Given the description of an element on the screen output the (x, y) to click on. 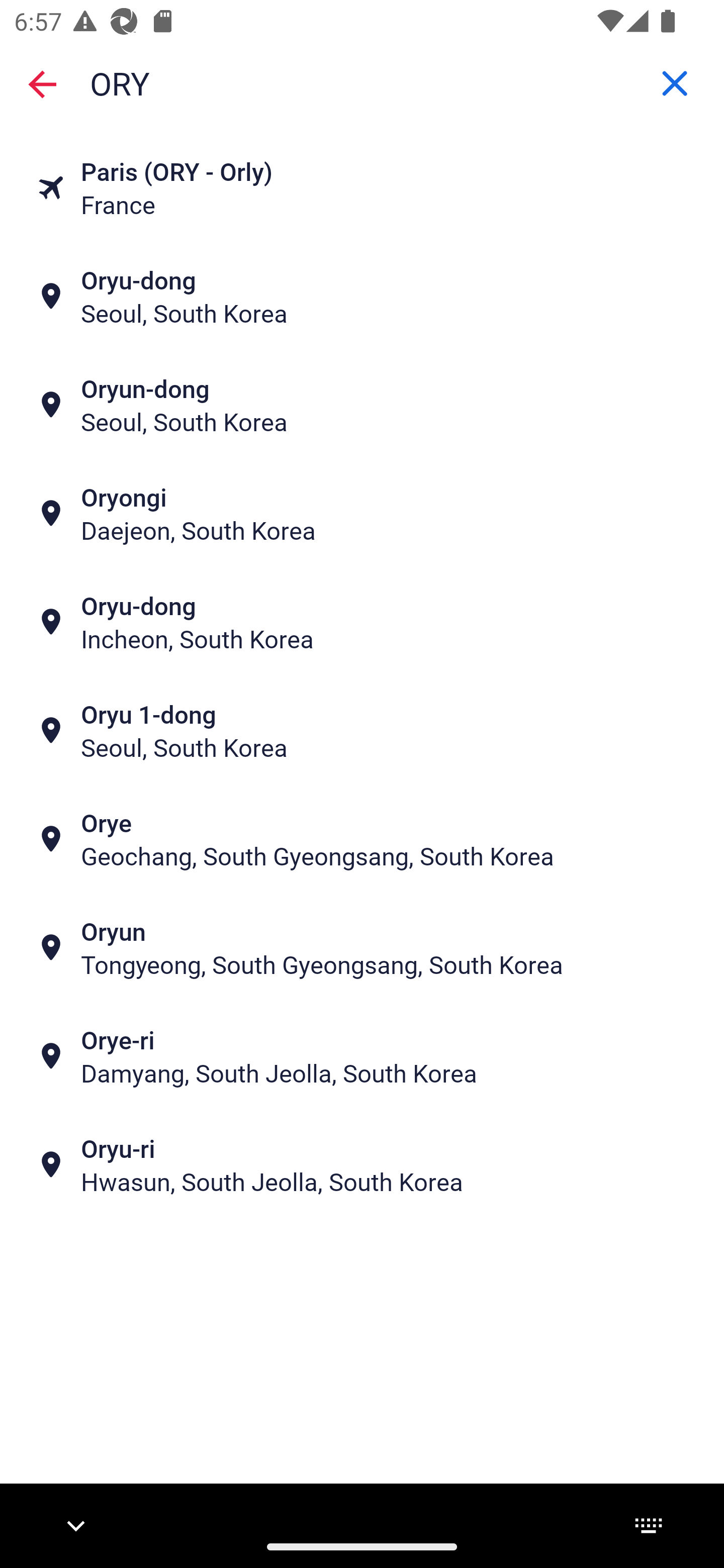
Clear Drop-off (674, 82)
Drop-off, ORY (361, 82)
Close search screen (41, 83)
